Given the description of an element on the screen output the (x, y) to click on. 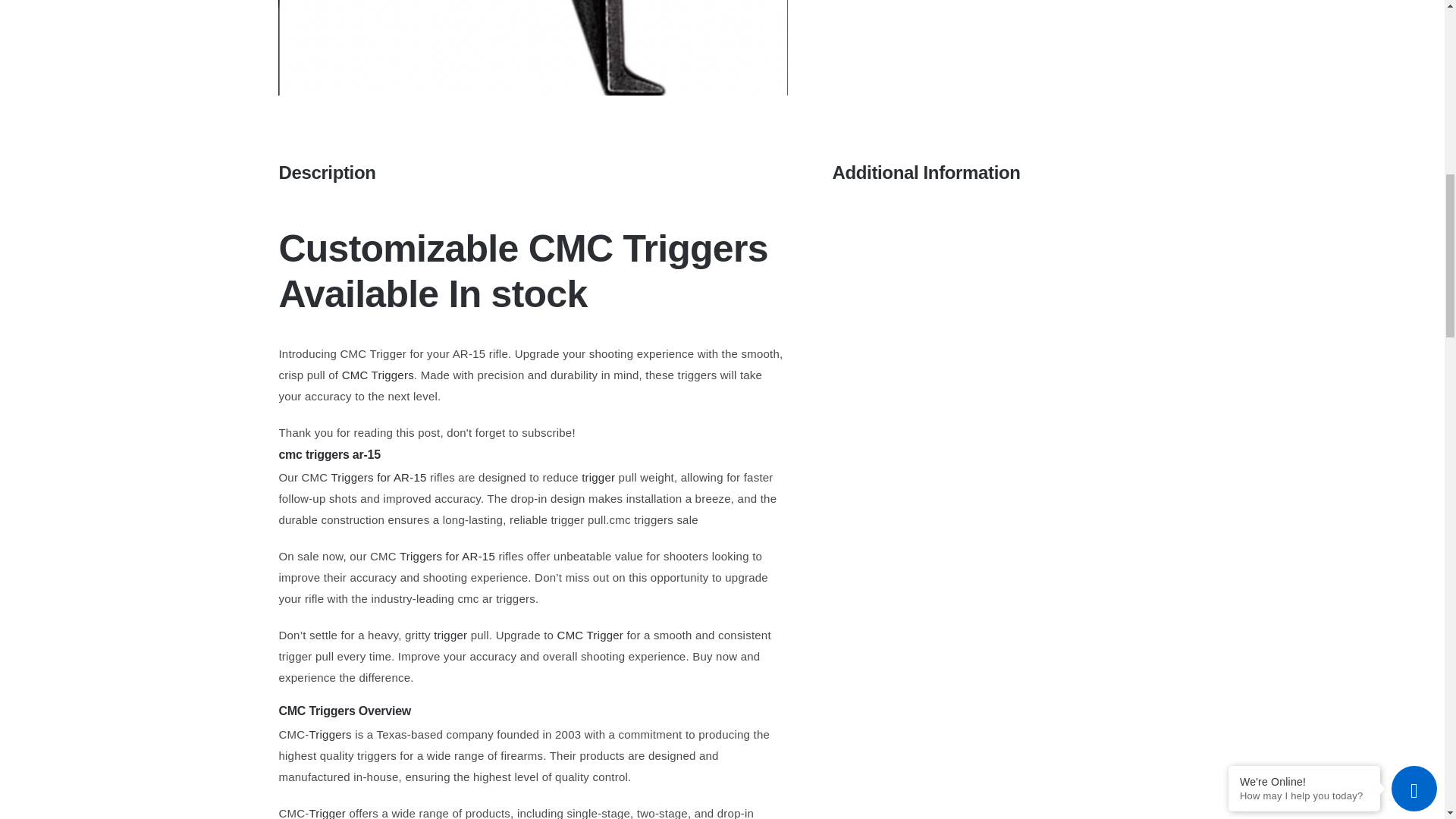
CMC Triggers (532, 47)
Triggers for AR-15 (446, 555)
CMC Trigger (590, 634)
Trigger (327, 812)
triggers ar-15 (342, 454)
Customizable CMC Triggers Available In stock (522, 271)
trigger (450, 634)
Triggers (330, 734)
Triggers for AR-15 (378, 477)
CMC Triggers (377, 374)
trigger (597, 477)
CMC Triggers Overview (344, 710)
